Given the description of an element on the screen output the (x, y) to click on. 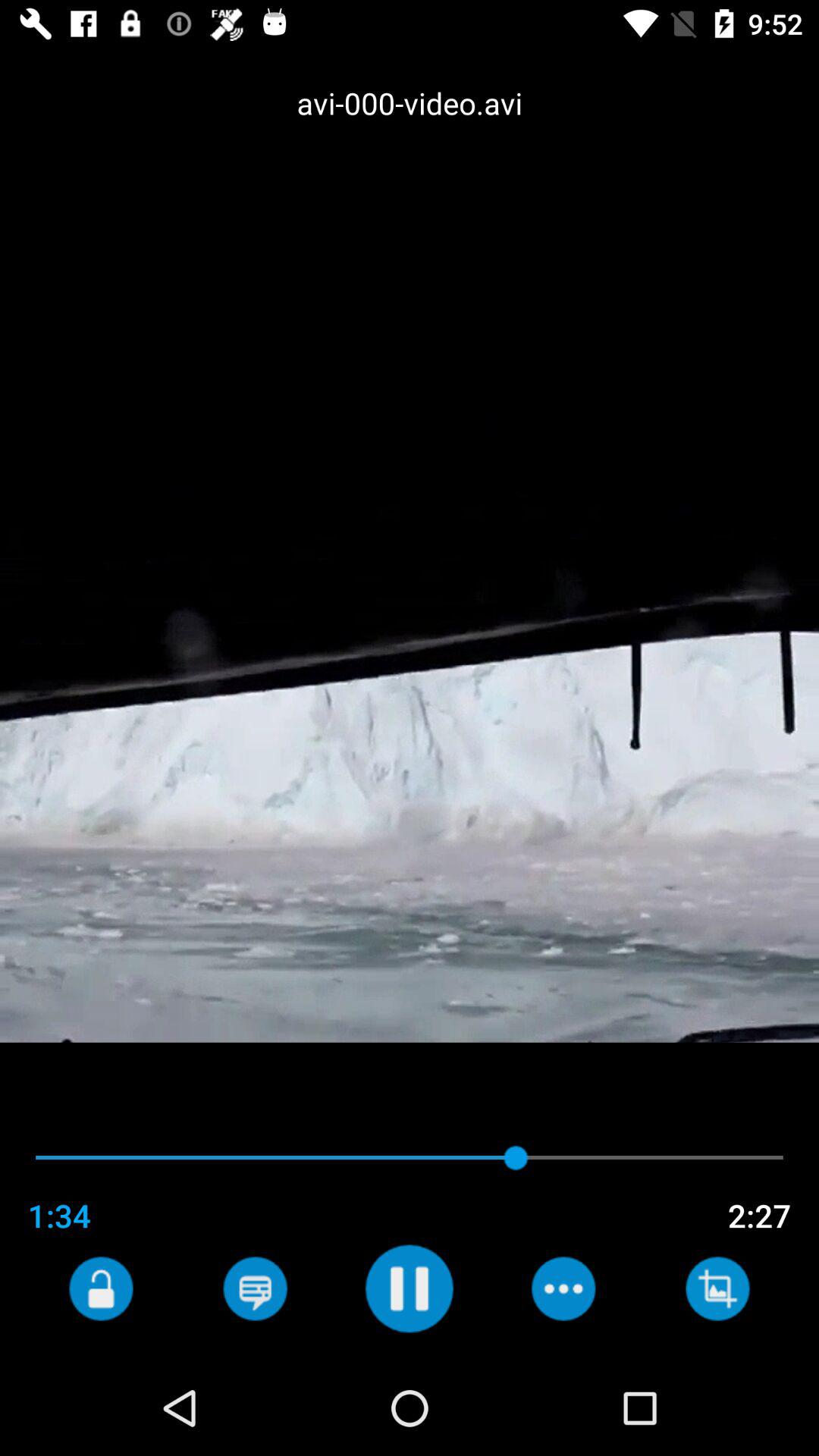
add text to video (255, 1288)
